Given the description of an element on the screen output the (x, y) to click on. 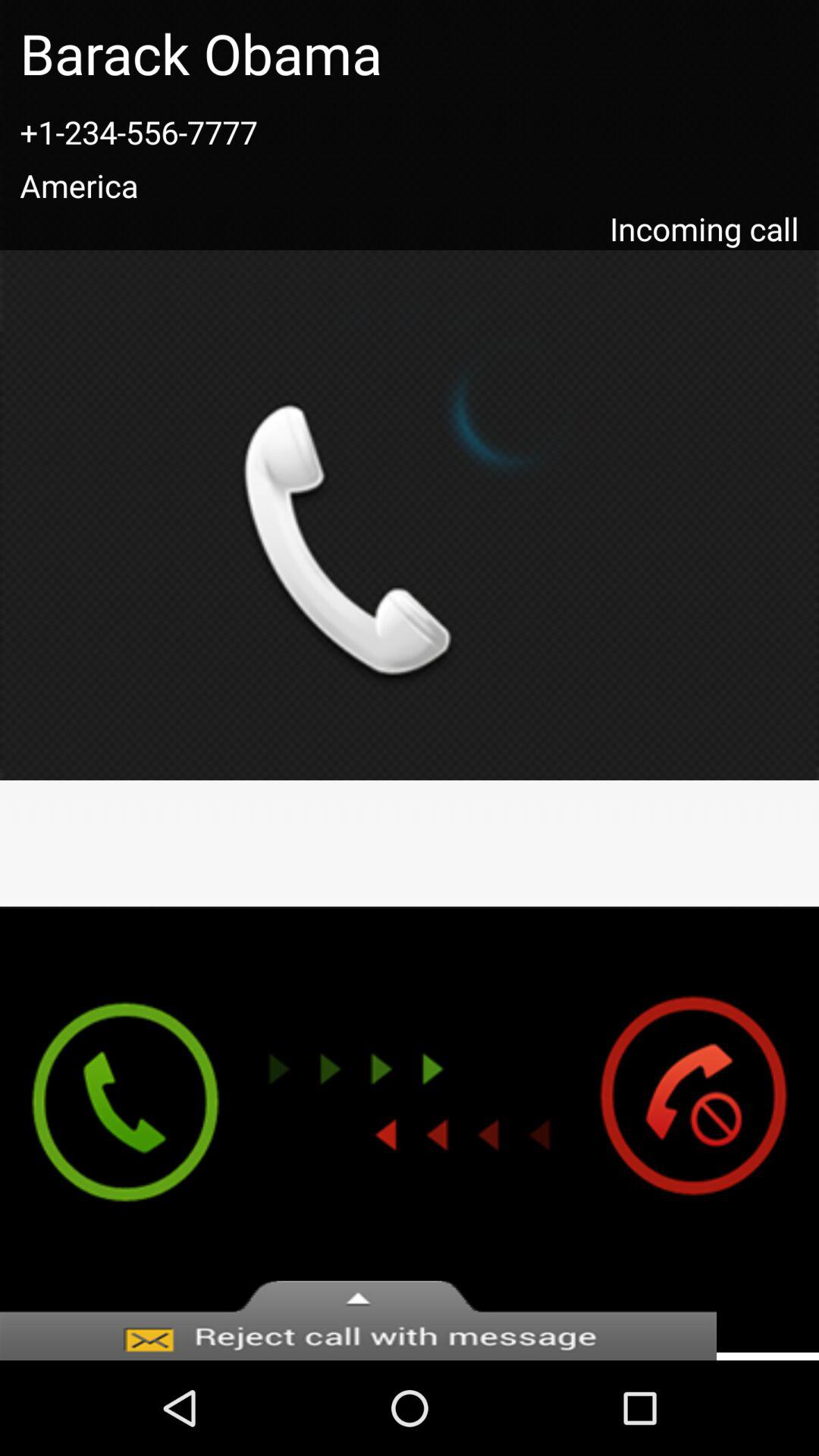
turn on the item at the bottom right corner (707, 1129)
